Given the description of an element on the screen output the (x, y) to click on. 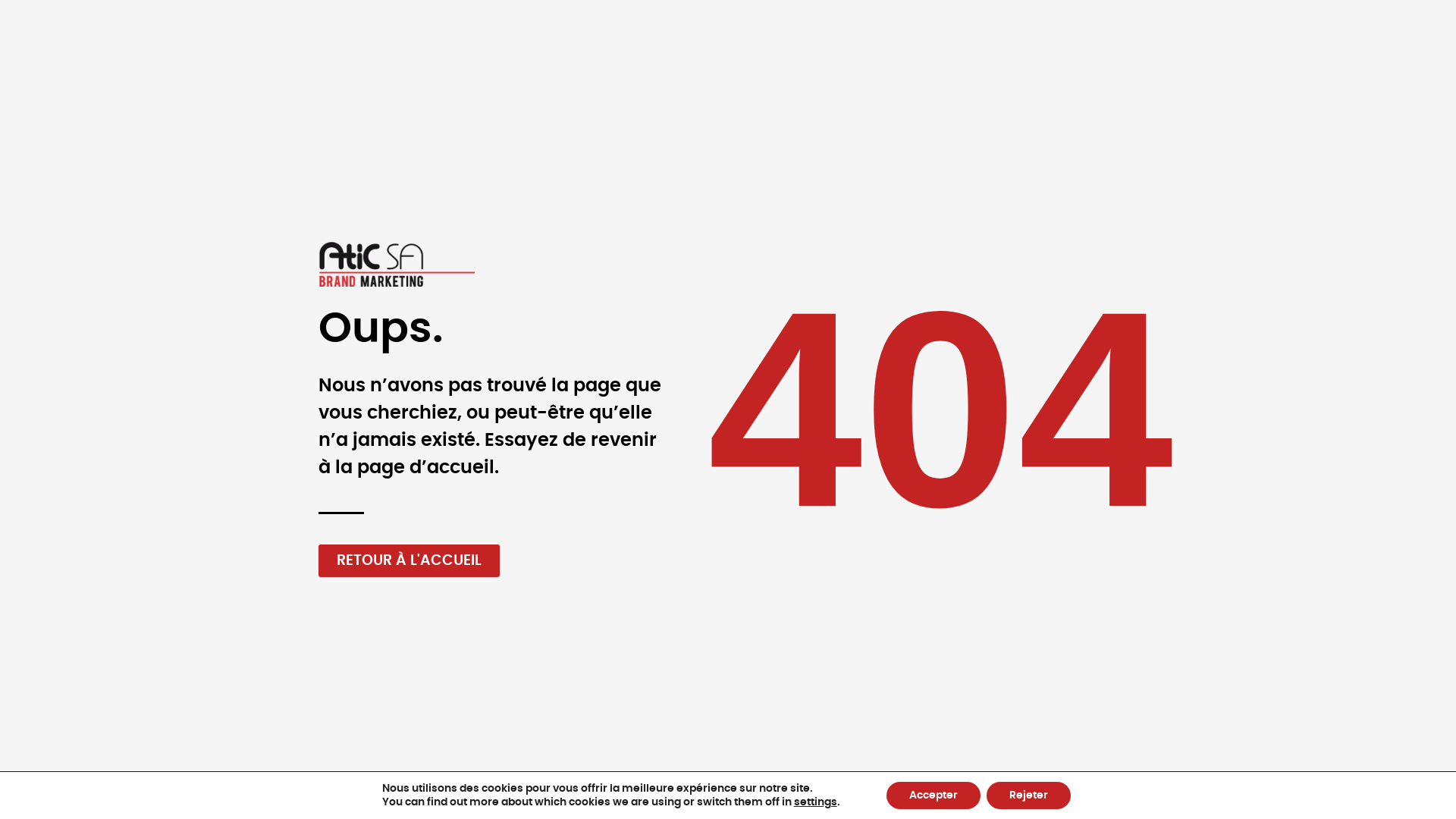
settings Element type: text (815, 802)
Accepter Element type: text (933, 795)
Rejeter Element type: text (1028, 795)
